Given the description of an element on the screen output the (x, y) to click on. 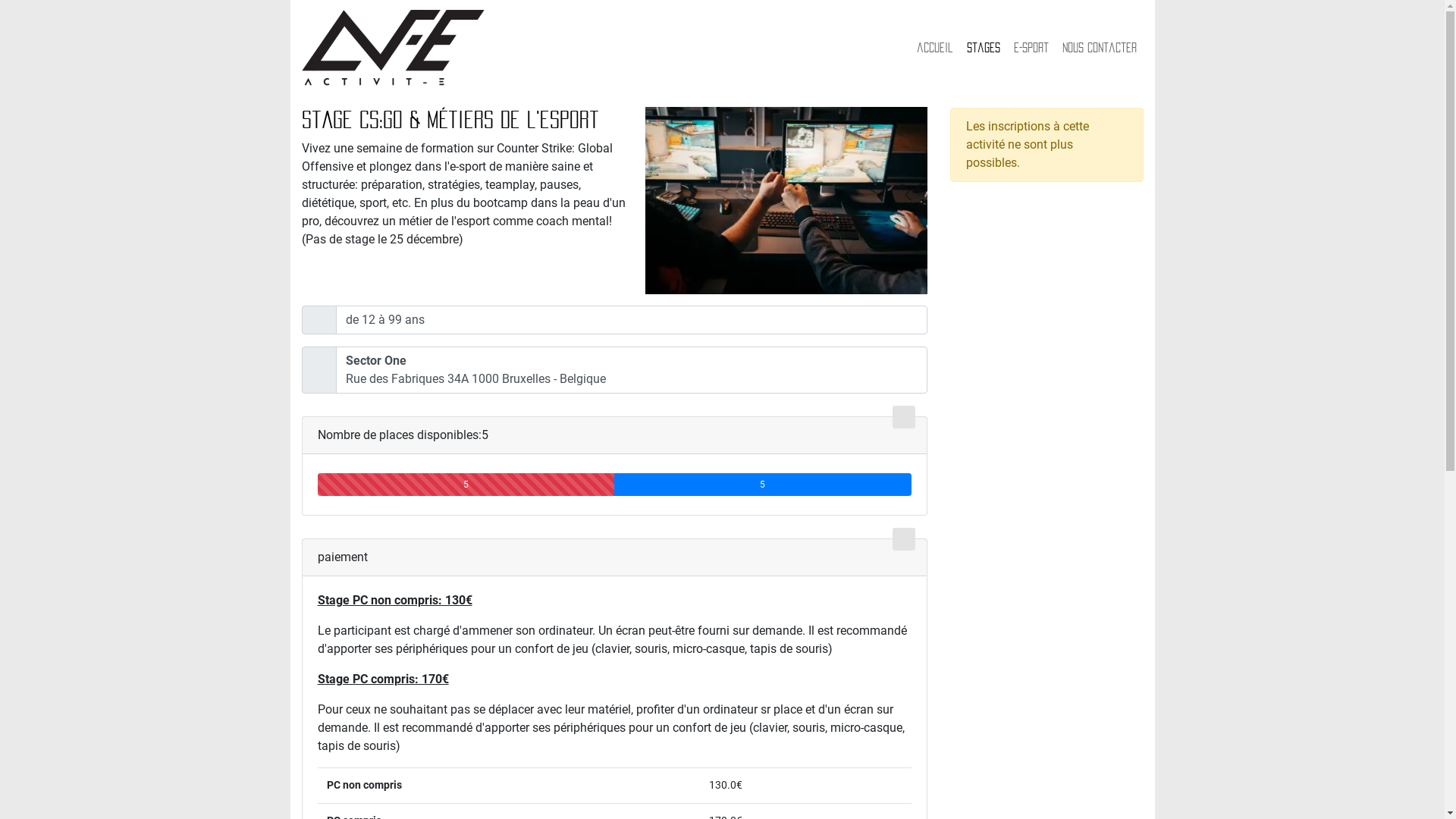
Nous contacter Element type: text (1098, 47)
stages
(courante) Element type: text (982, 47)
e-sport Element type: text (1030, 47)
accueil Element type: text (934, 47)
